Given the description of an element on the screen output the (x, y) to click on. 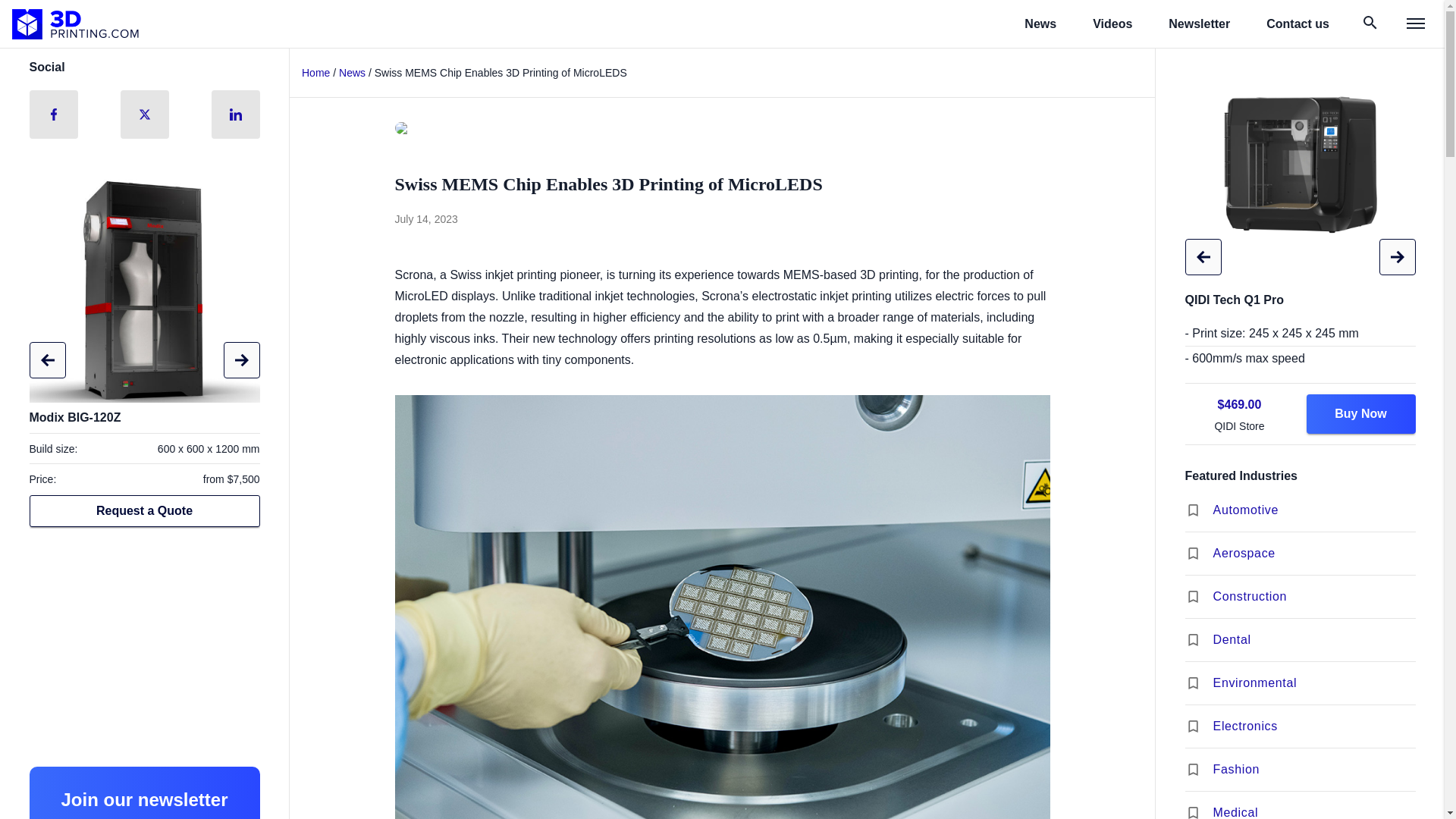
Advertisement (144, 647)
3D Printing (75, 24)
Videos (1112, 23)
News (352, 72)
Contact us (1297, 23)
News (1040, 23)
Newsletter (1198, 23)
Home (315, 72)
